Given the description of an element on the screen output the (x, y) to click on. 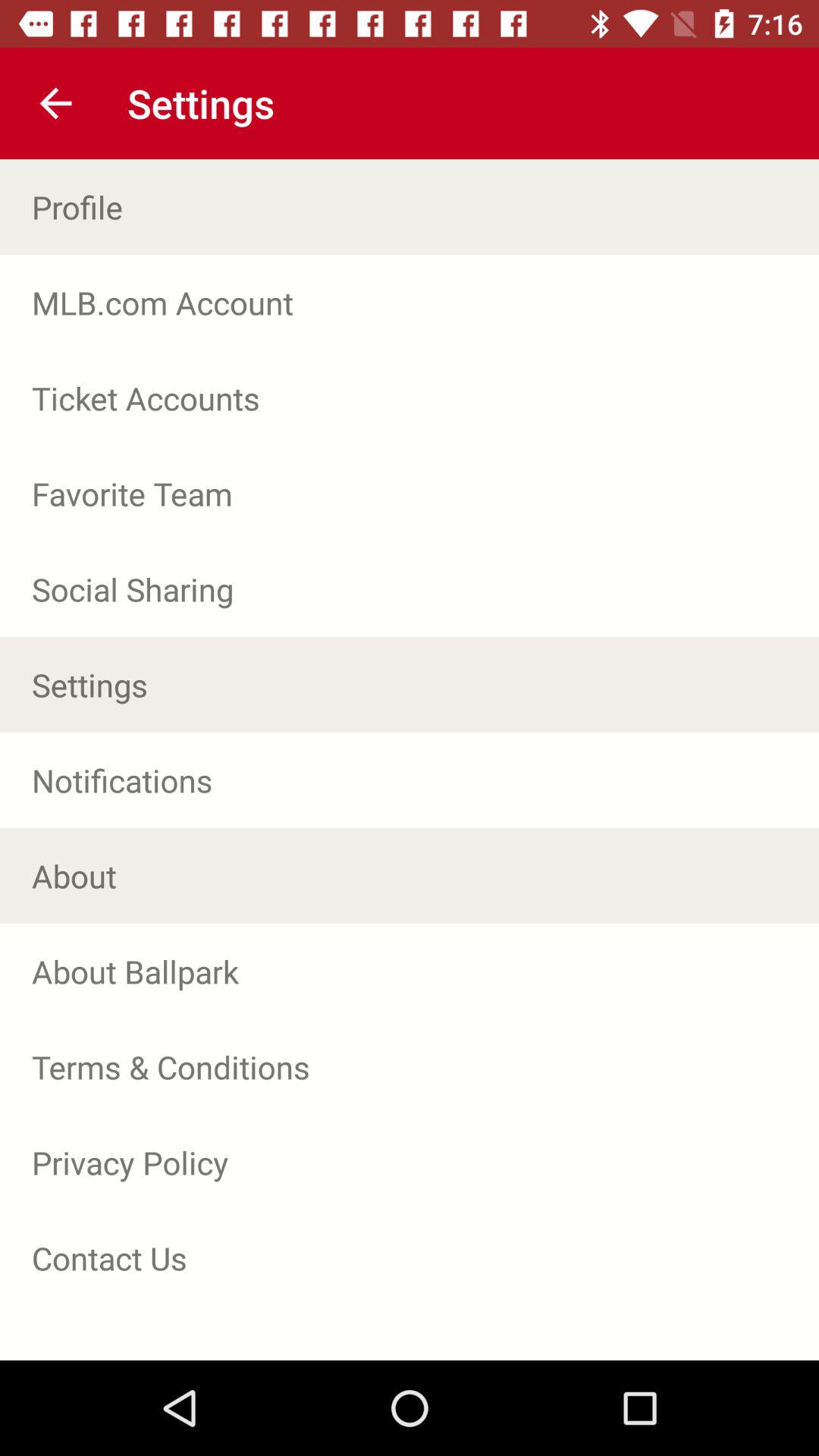
select icon next to the settings item (55, 103)
